Given the description of an element on the screen output the (x, y) to click on. 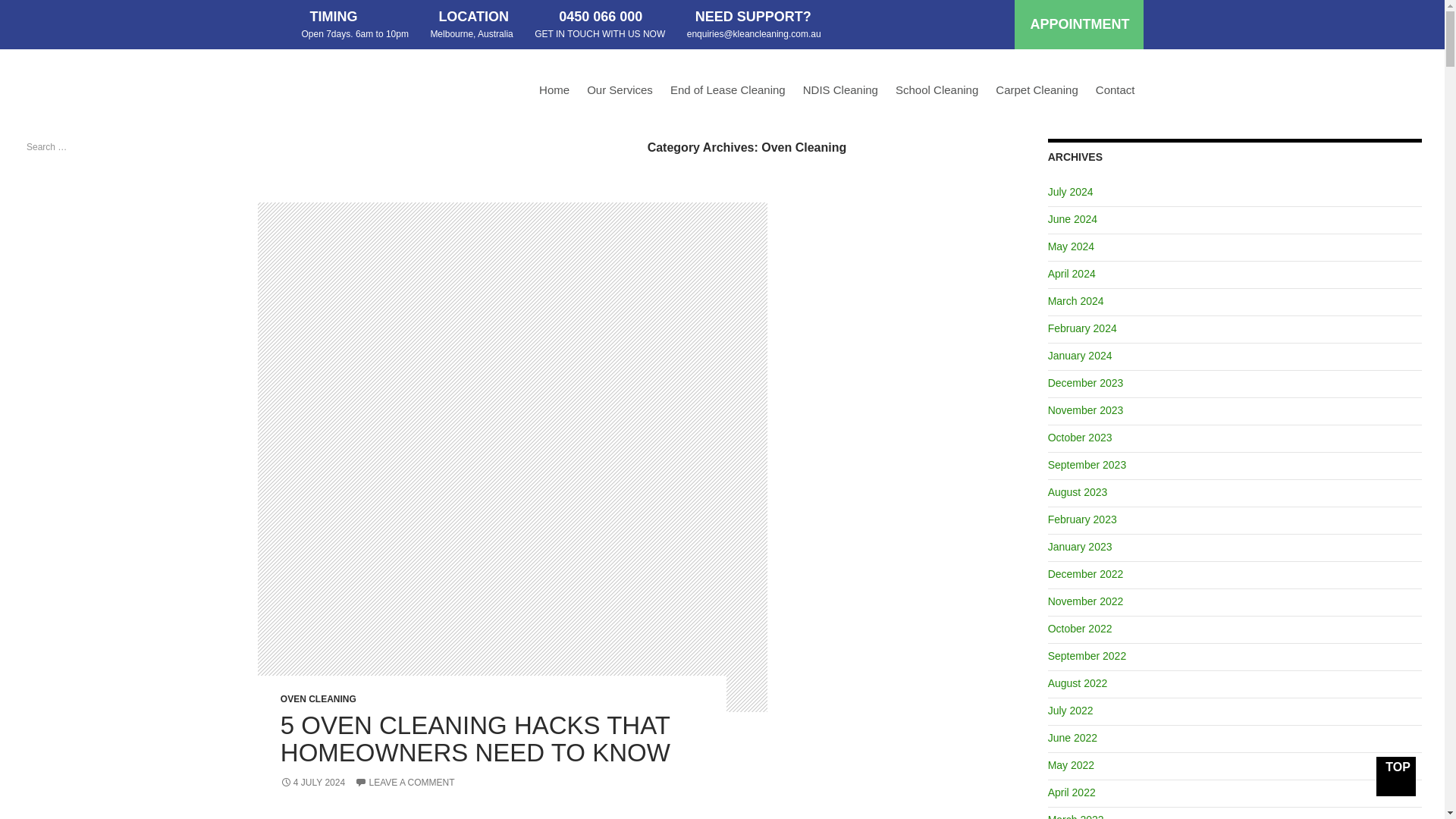
School Cleaning (936, 93)
End of Lease Cleaning (727, 93)
Our Services (620, 93)
APPOINTMENT (1078, 23)
0450 066 000 (600, 16)
NDIS Cleaning (839, 93)
OVEN CLEANING (318, 698)
Carpet Cleaning (1036, 93)
